Given the description of an element on the screen output the (x, y) to click on. 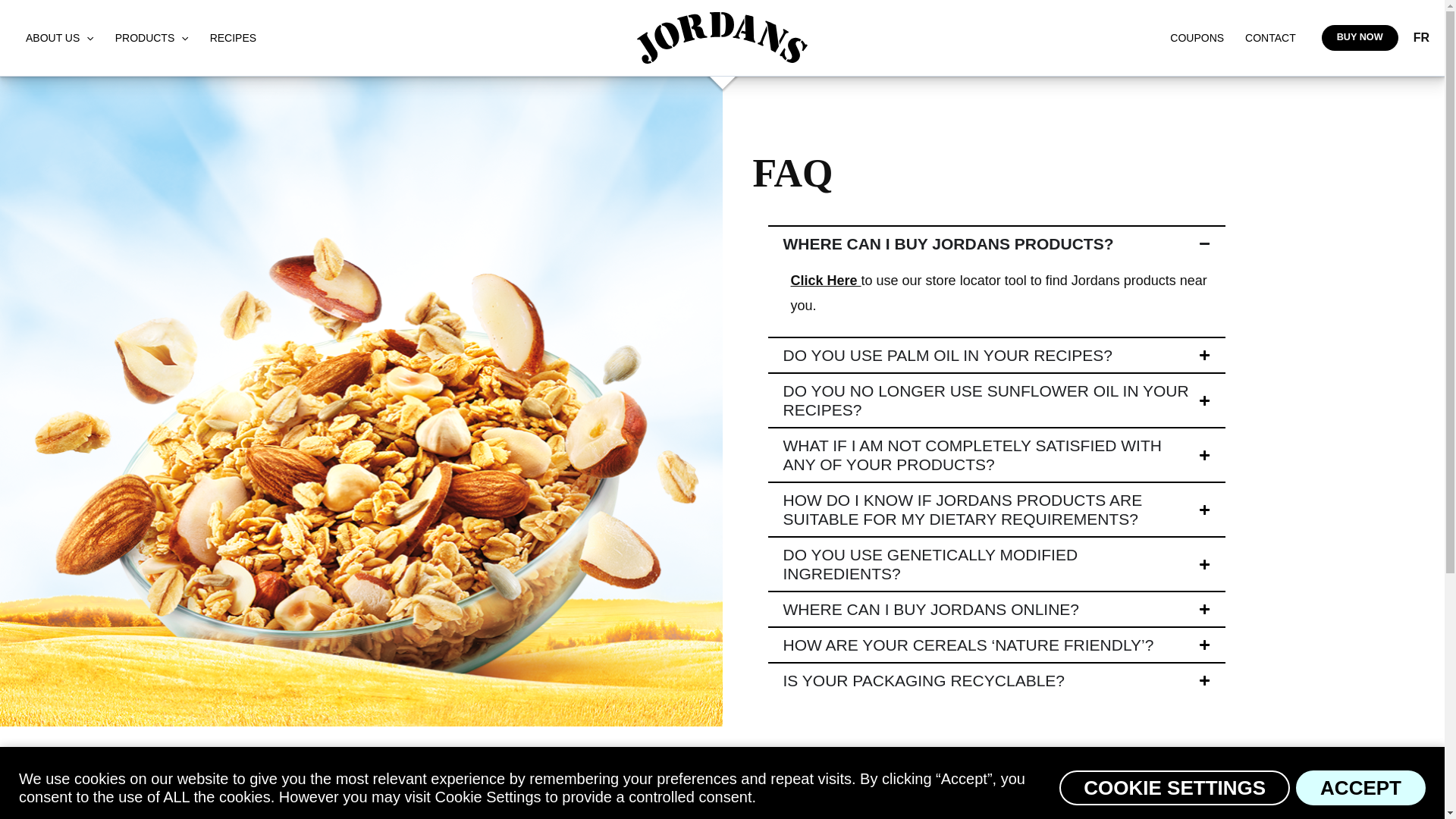
CONTACT (1270, 37)
BUY NOW (1359, 37)
ABOUT US (59, 37)
COOKIE SETTINGS (1174, 787)
PRODUCTS (151, 37)
ACCEPT (1360, 787)
COUPONS (1196, 37)
RECIPES (232, 37)
FR (1421, 38)
